Given the description of an element on the screen output the (x, y) to click on. 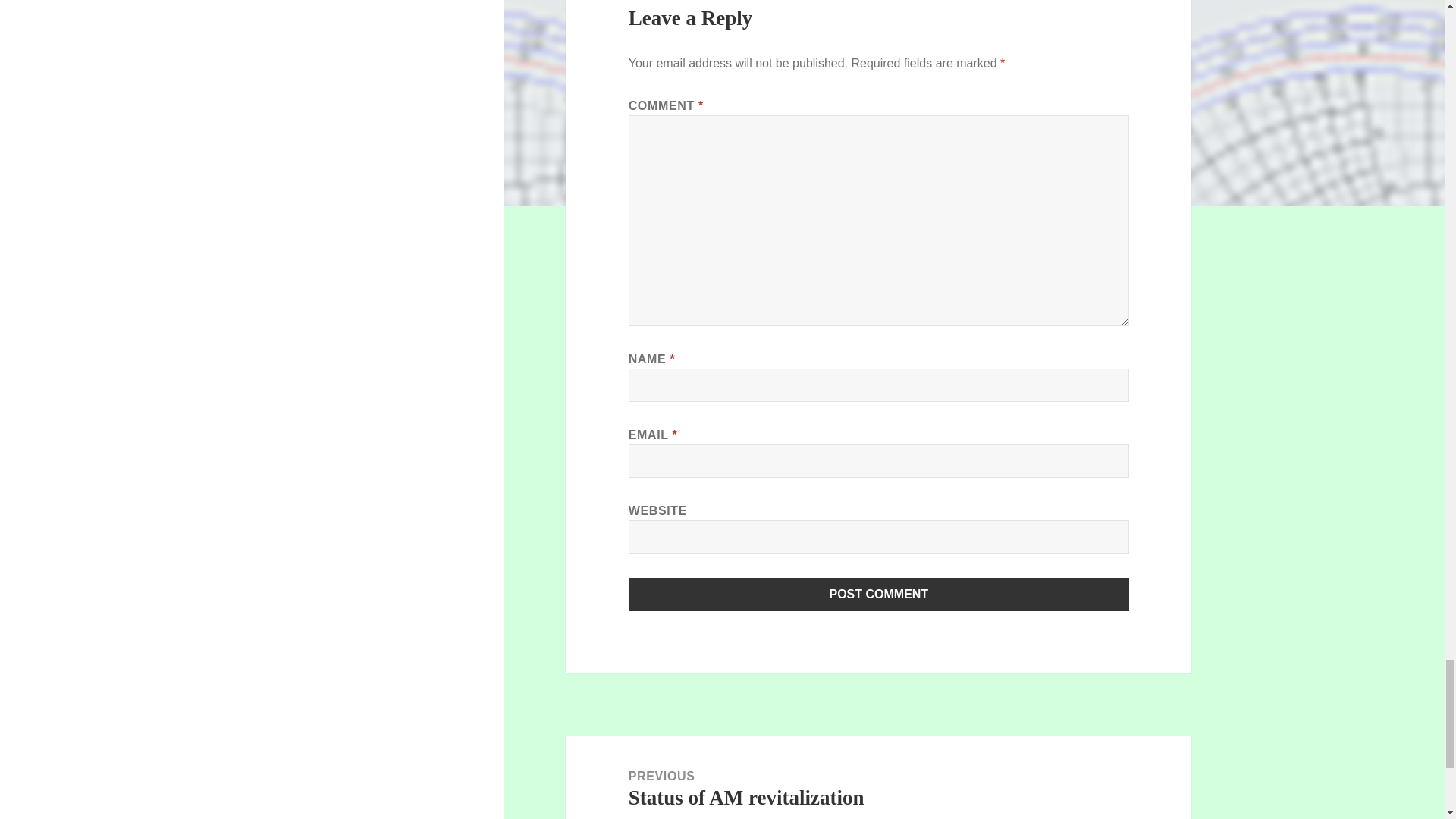
Post Comment (878, 594)
